Given the description of an element on the screen output the (x, y) to click on. 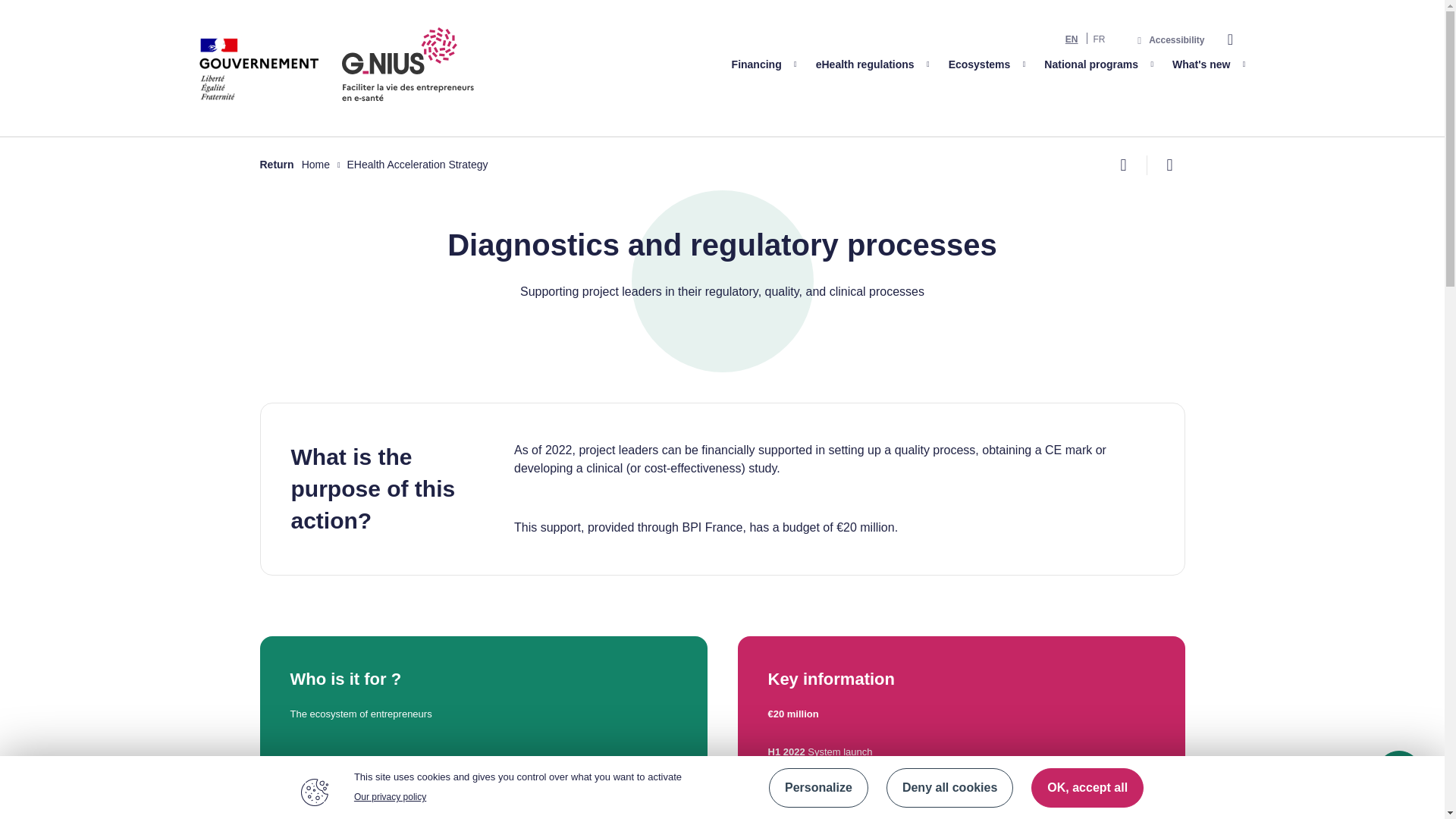
Share this page (1123, 165)
Back to top (1398, 773)
